Given the description of an element on the screen output the (x, y) to click on. 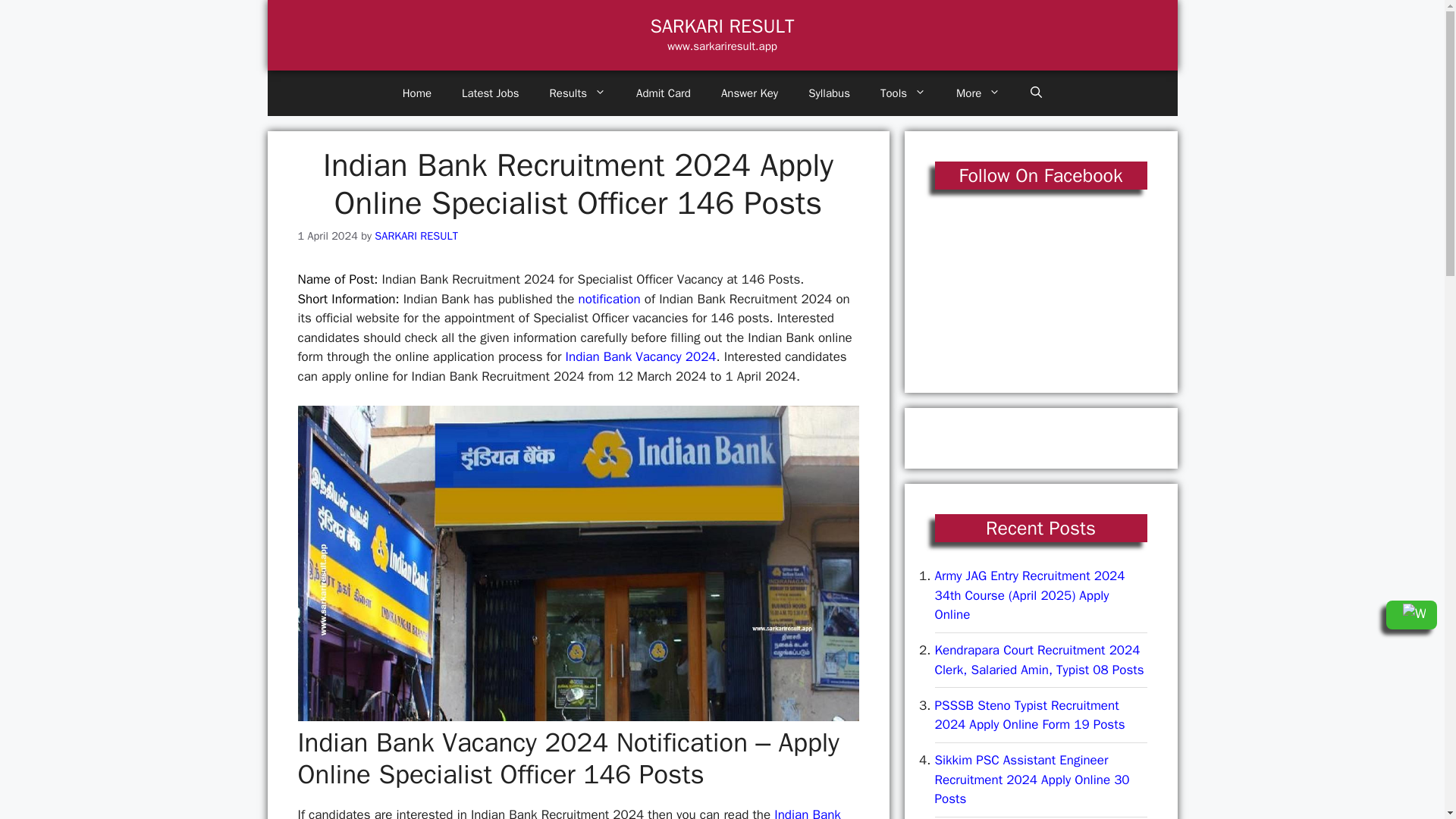
SARKARI RESULT (416, 235)
Results (577, 92)
More (977, 92)
SARKARI RESULT (722, 25)
View all posts by SARKARI RESULT (416, 235)
Admit Card (663, 92)
Syllabus (828, 92)
Indian Bank Notification 2024 (568, 812)
Tools (902, 92)
Indian Bank Vacancy 2024 (641, 356)
notification (609, 299)
Answer Key (749, 92)
Latest Jobs (490, 92)
Home (416, 92)
